Given the description of an element on the screen output the (x, y) to click on. 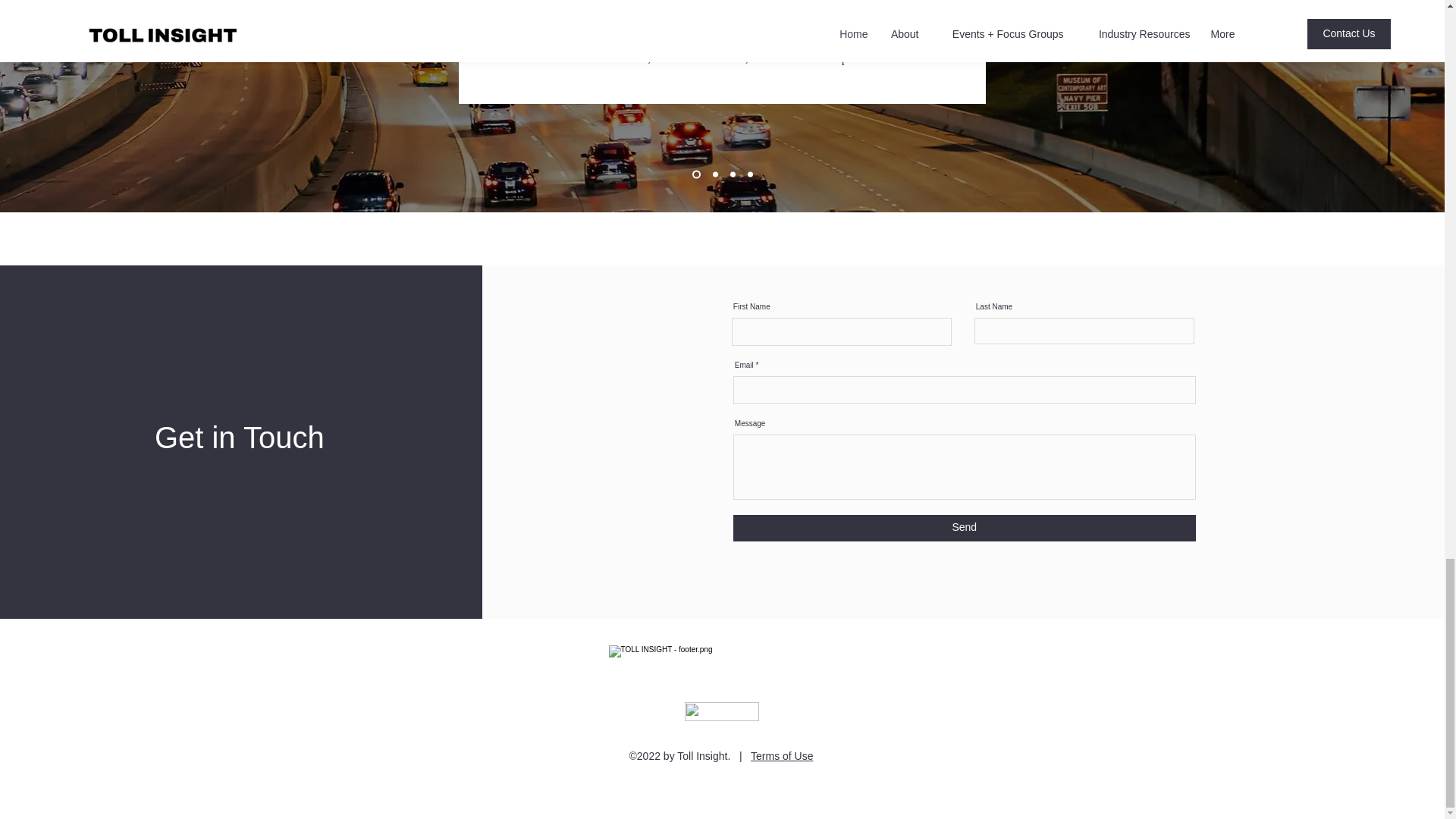
Terms of Use (781, 755)
Send (964, 527)
